Given the description of an element on the screen output the (x, y) to click on. 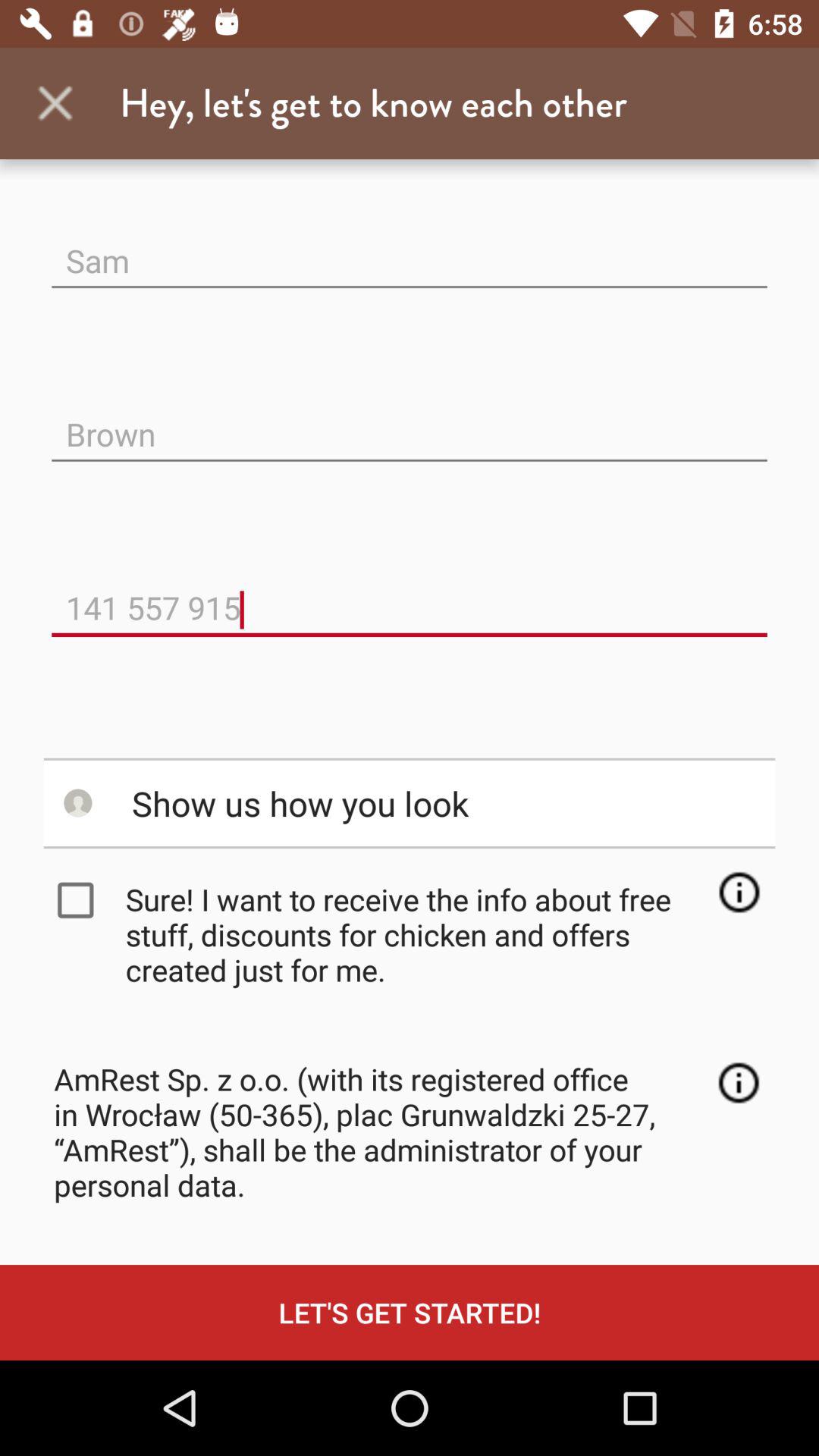
launch sam item (409, 248)
